Given the description of an element on the screen output the (x, y) to click on. 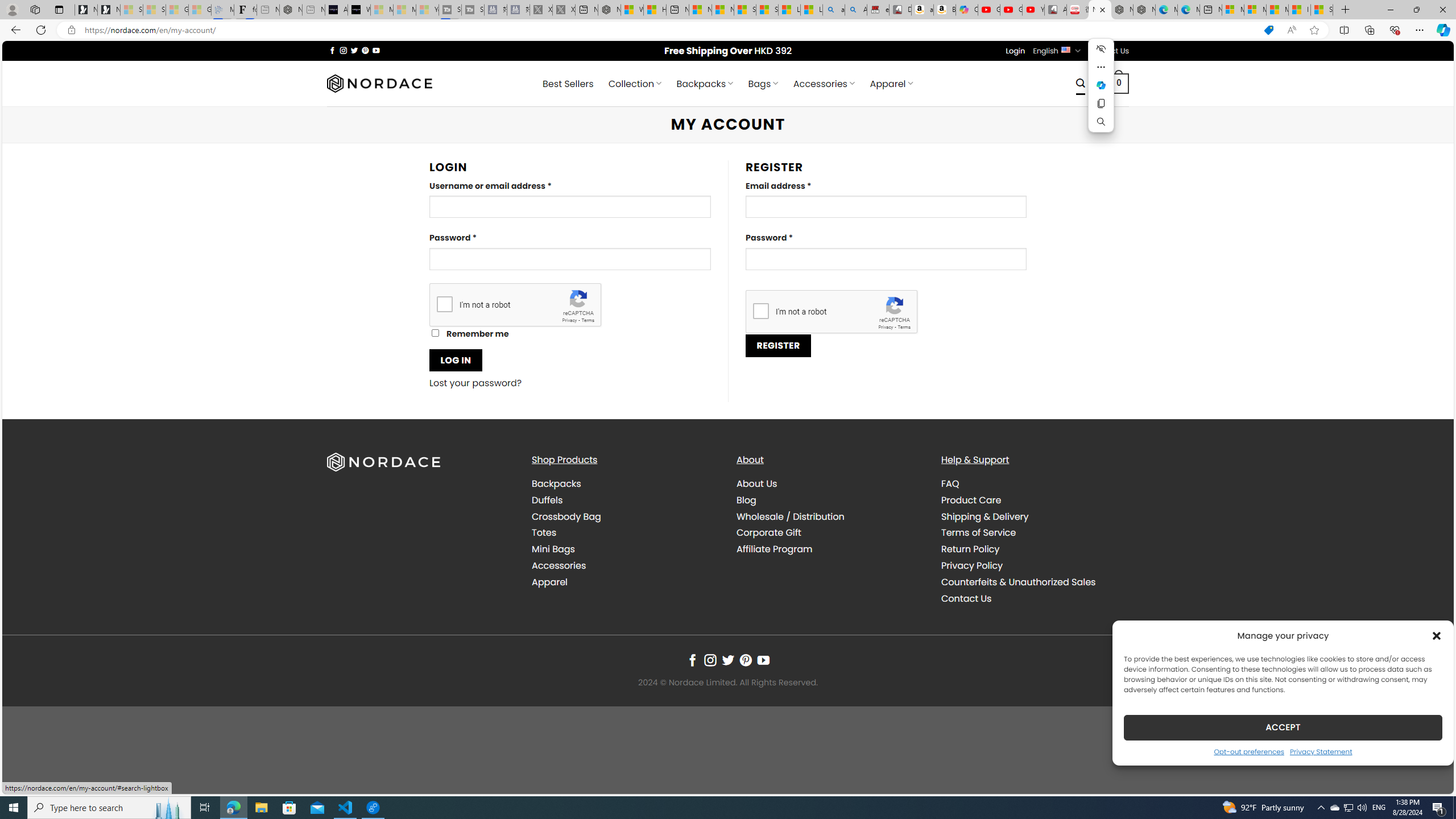
Contact Us (1034, 598)
Accessories (558, 565)
Backpacks (555, 483)
Nordace - Nordace has arrived Hong Kong (1144, 9)
